Given the description of an element on the screen output the (x, y) to click on. 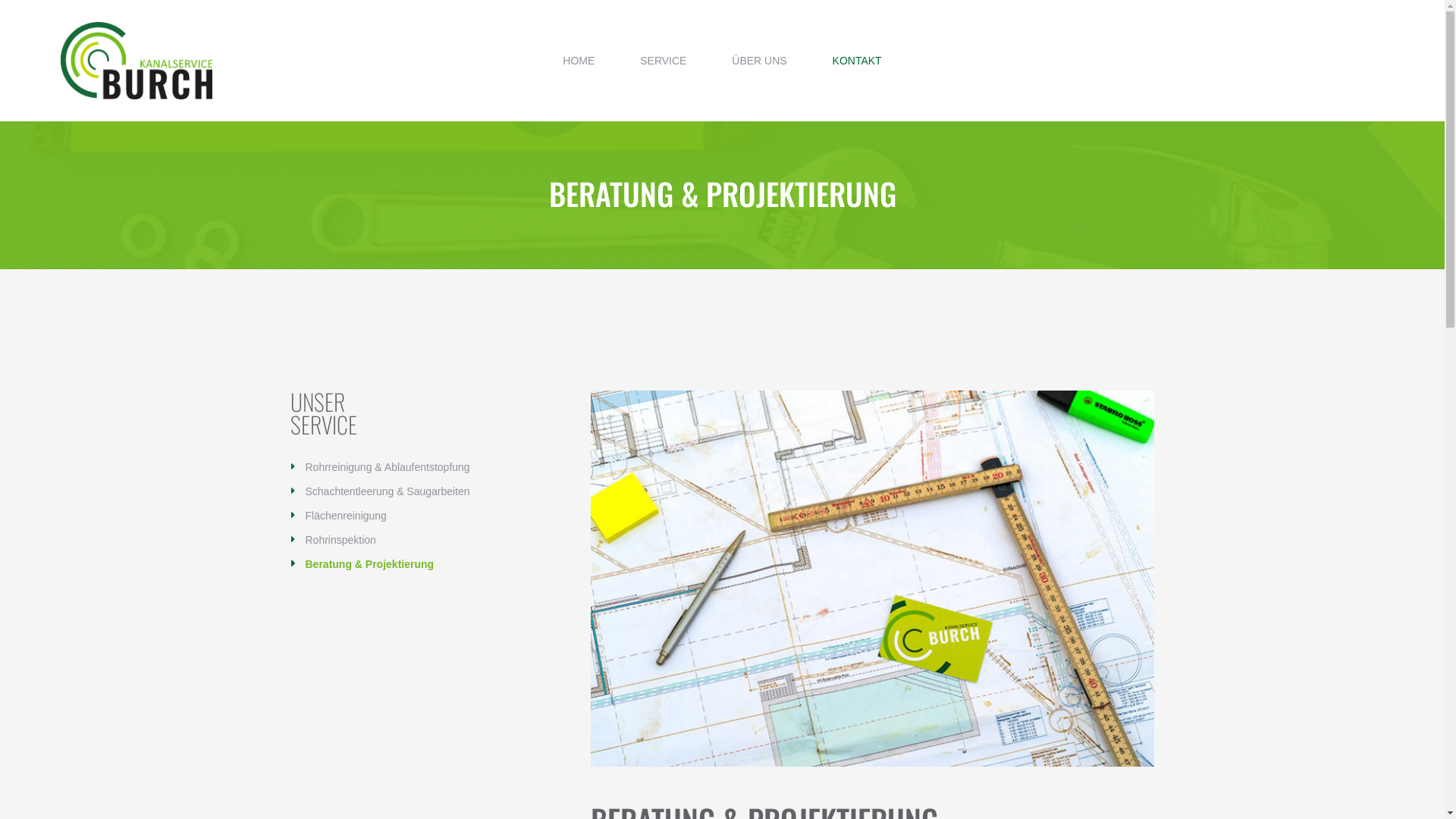
Rohrreinigung & Ablaufentstopfung Element type: text (379, 467)
Rohrinspektion Element type: text (332, 539)
Beratung & Projektierung Element type: text (361, 564)
Schachtentleerung & Saugarbeiten Element type: text (379, 491)
SERVICE Element type: text (663, 60)
HOME Element type: text (589, 60)
KONTAKT Element type: text (845, 60)
